Given the description of an element on the screen output the (x, y) to click on. 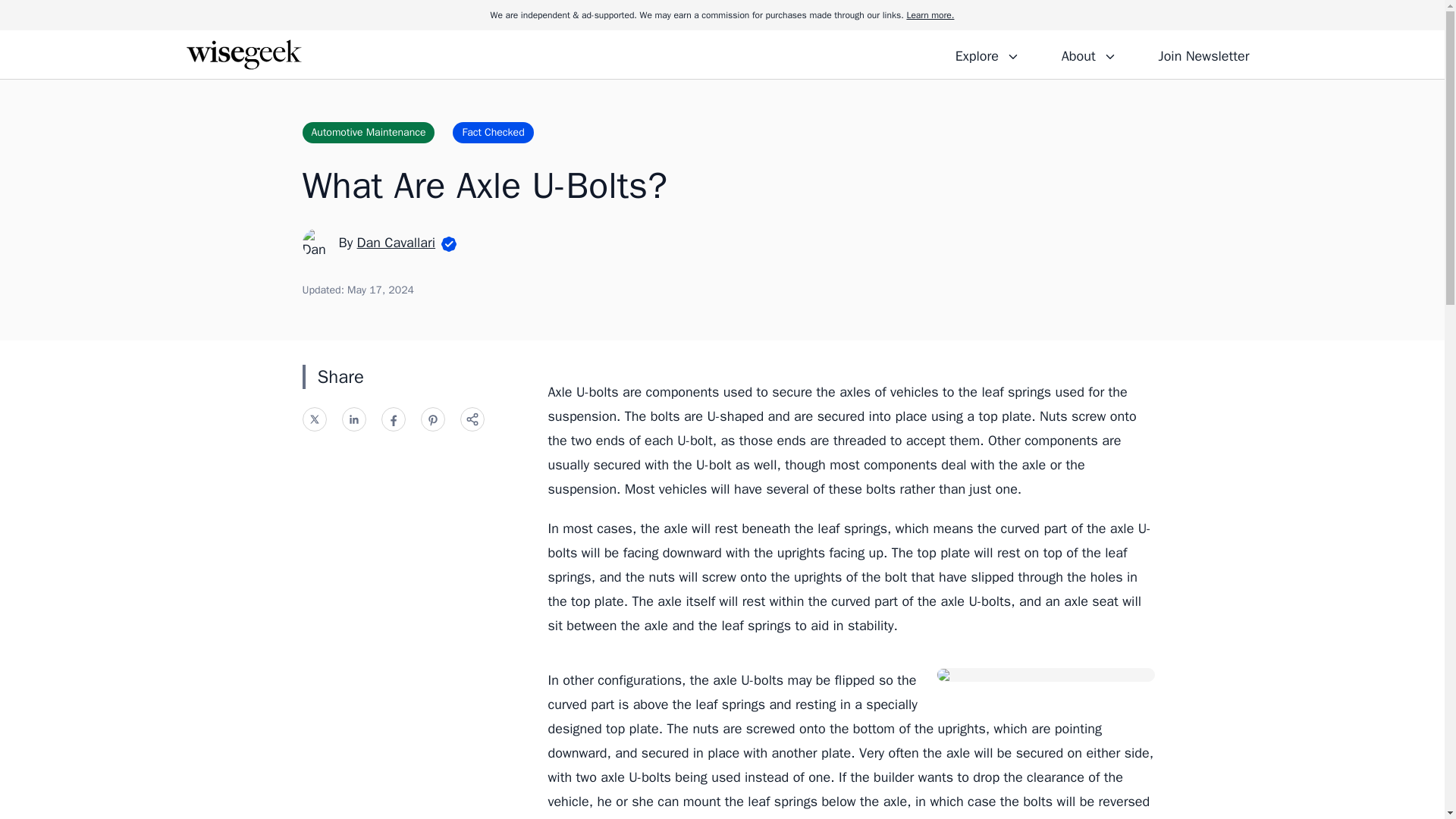
About (1088, 54)
Automotive Maintenance (367, 132)
Fact Checked (492, 132)
Learn more. (929, 15)
Join Newsletter (1202, 54)
Explore (986, 54)
Dan Cavallari (395, 242)
